Given the description of an element on the screen output the (x, y) to click on. 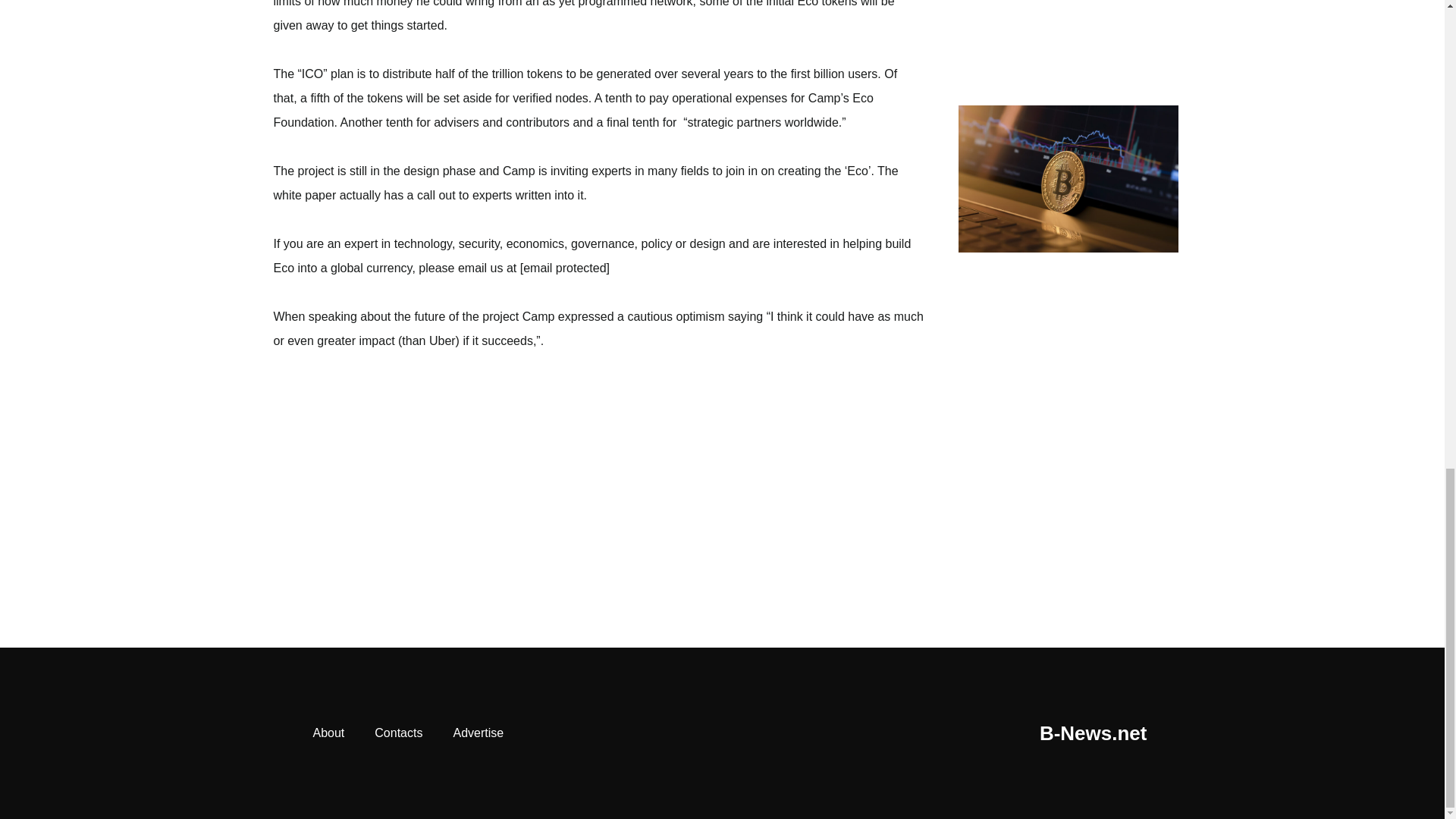
About (328, 733)
Contacts (398, 733)
Advertise (478, 733)
